Given the description of an element on the screen output the (x, y) to click on. 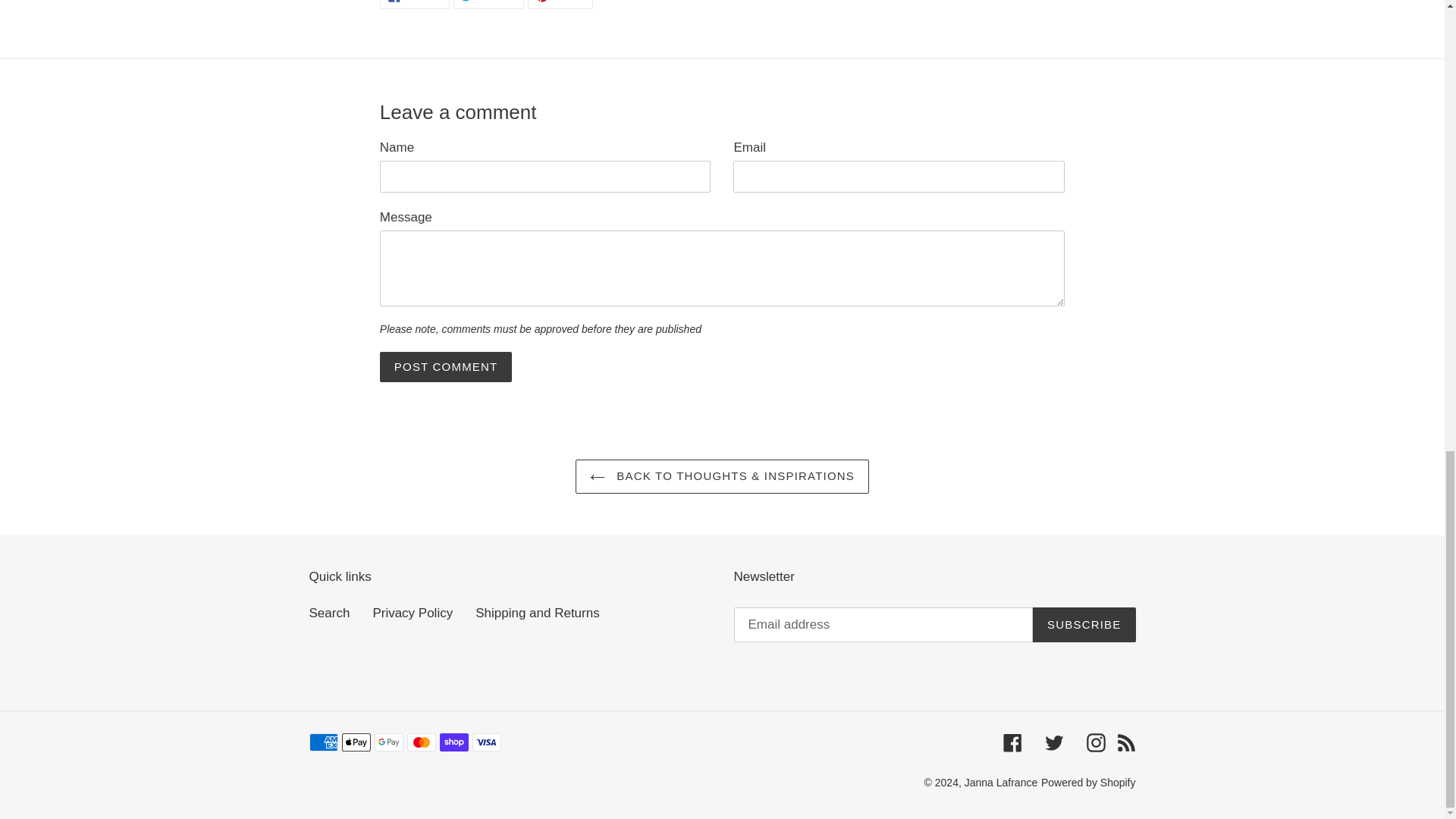
Facebook (414, 4)
Twitter (1012, 742)
Powered by Shopify (1054, 742)
SUBSCRIBE (1088, 782)
RSS (559, 4)
Post comment (1083, 624)
Post comment (488, 4)
Privacy Policy (1125, 742)
Search (446, 367)
Janna Lafrance (446, 367)
Shipping and Returns (412, 612)
Instagram (329, 612)
